Given the description of an element on the screen output the (x, y) to click on. 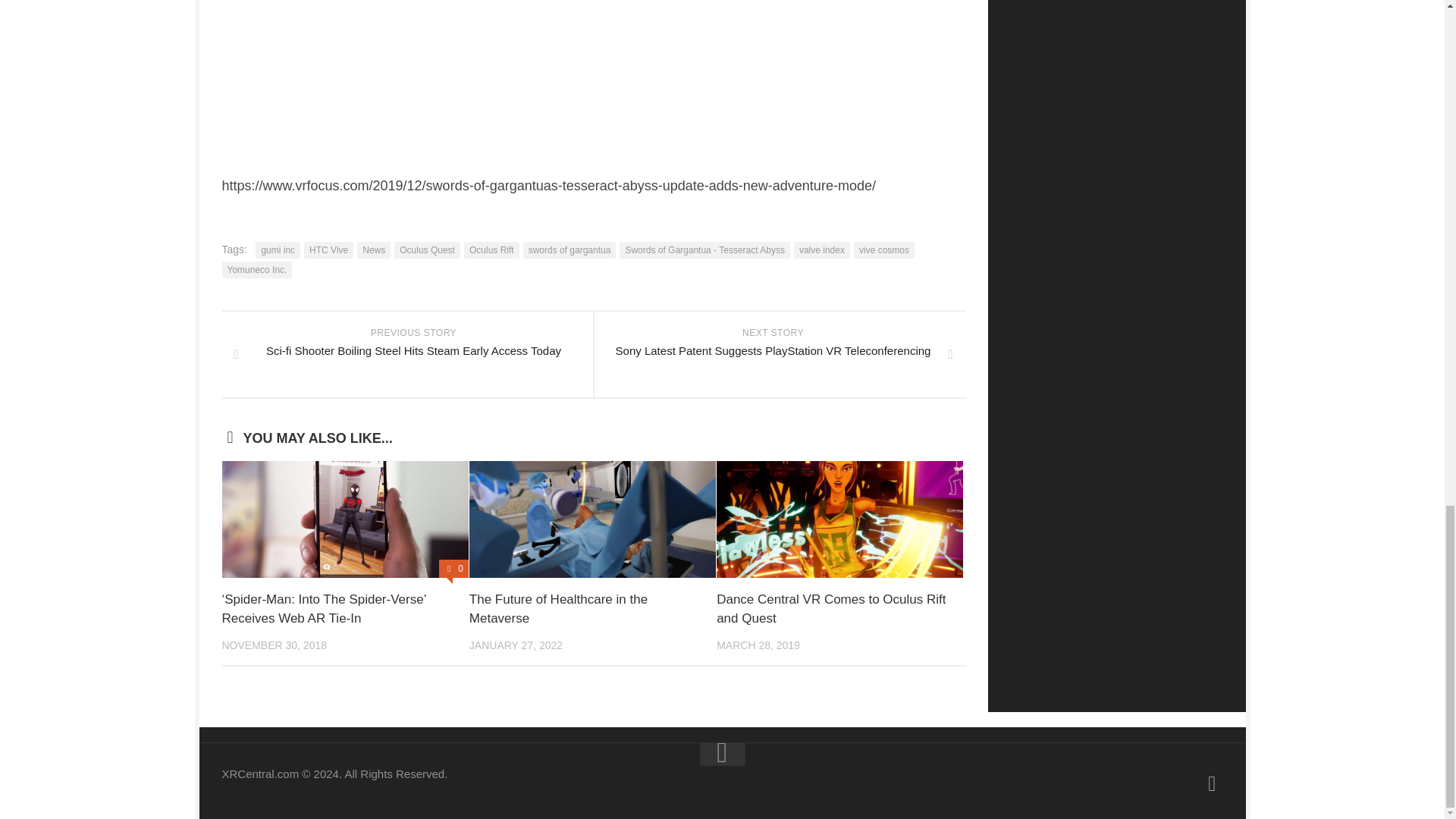
swords of gargantua (568, 249)
gumi inc (277, 249)
HTC Vive (328, 249)
Oculus Rift (491, 249)
Yomuneco Inc. (256, 269)
valve index (821, 249)
Twitter (1212, 783)
0 (453, 568)
Swords of Gargantua - Tesseract Abyss (705, 249)
Oculus Quest (427, 249)
vive cosmos (883, 249)
News (373, 249)
Dance Central VR Comes to Oculus Rift and Quest (830, 609)
